Given the description of an element on the screen output the (x, y) to click on. 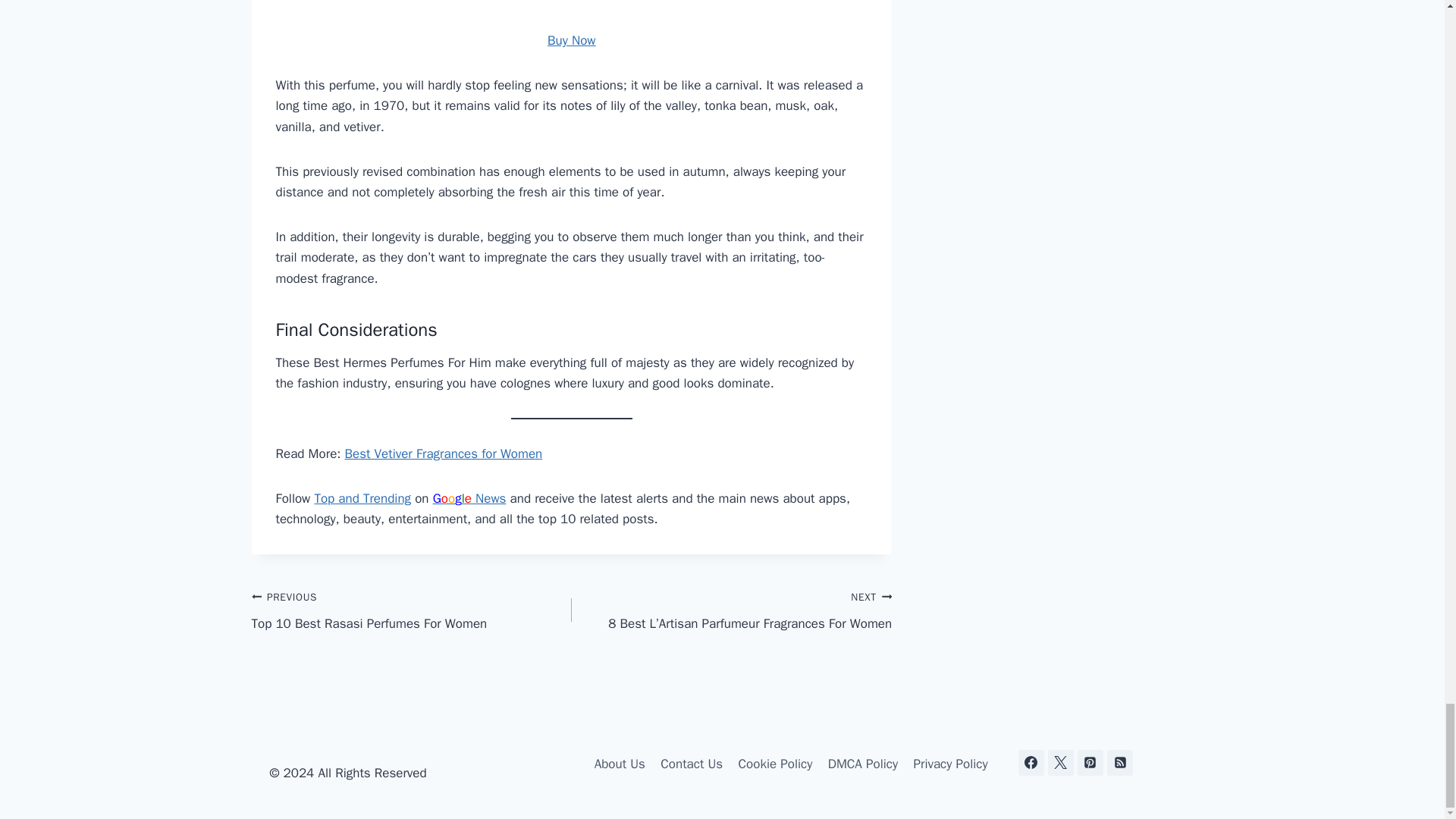
Google News (411, 609)
Best Vetiver Fragrances for Women (469, 498)
Buy Now (442, 453)
Top and Trending (571, 40)
